Given the description of an element on the screen output the (x, y) to click on. 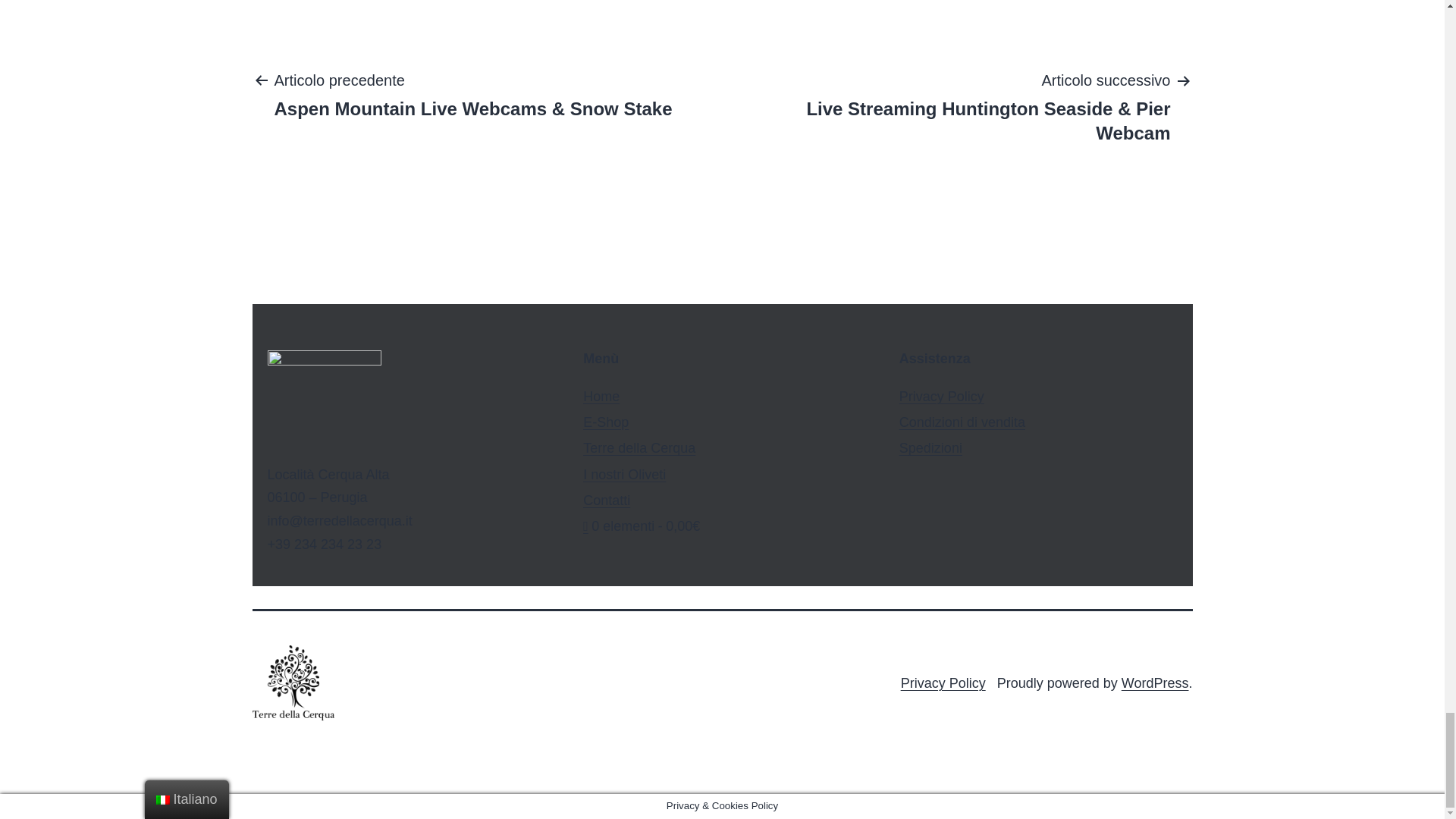
Spedizioni (930, 447)
Home (601, 396)
Privacy Policy (943, 683)
E-Shop (605, 421)
Contatti (606, 500)
Terre della Cerqua (639, 447)
Vai al negozio (641, 525)
Privacy Policy (941, 396)
Condizioni di vendita (962, 421)
WordPress (1155, 683)
I nostri Oliveti (624, 474)
